Given the description of an element on the screen output the (x, y) to click on. 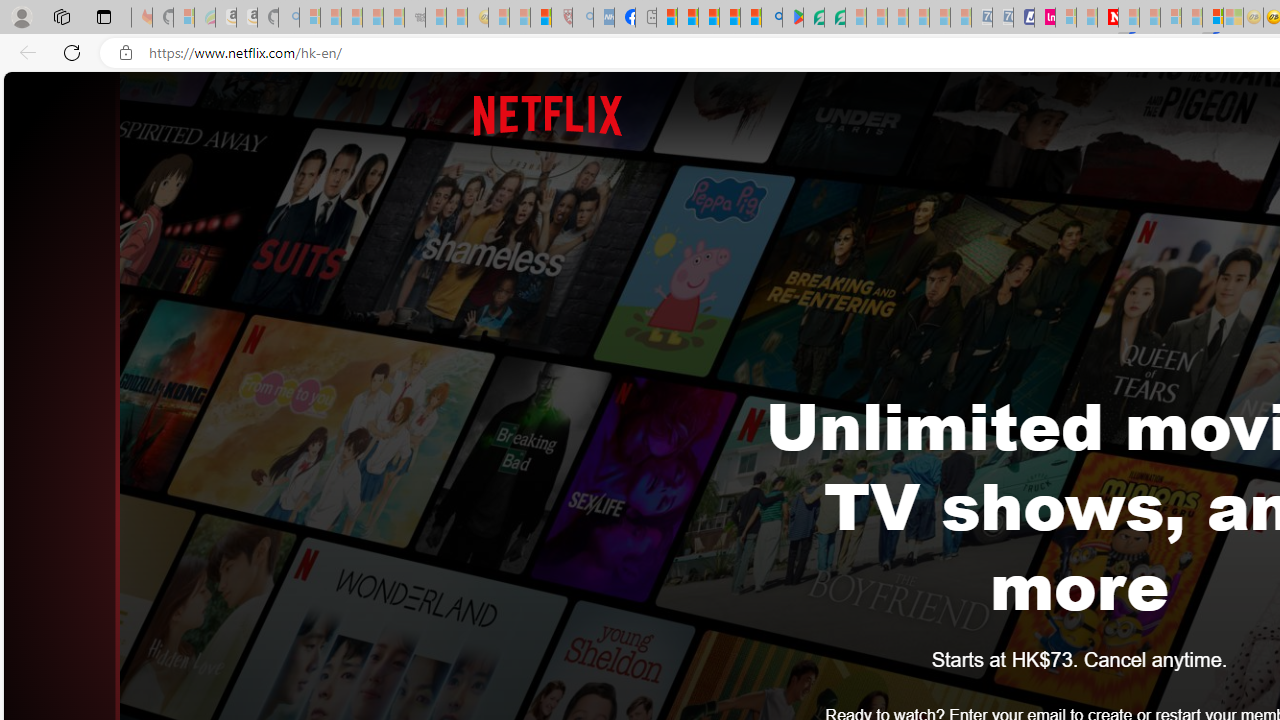
Bluey: Let's Play! - Apps on Google Play (792, 17)
Microsoft Word - consumer-privacy address update 2.2021 (834, 17)
